Given the description of an element on the screen output the (x, y) to click on. 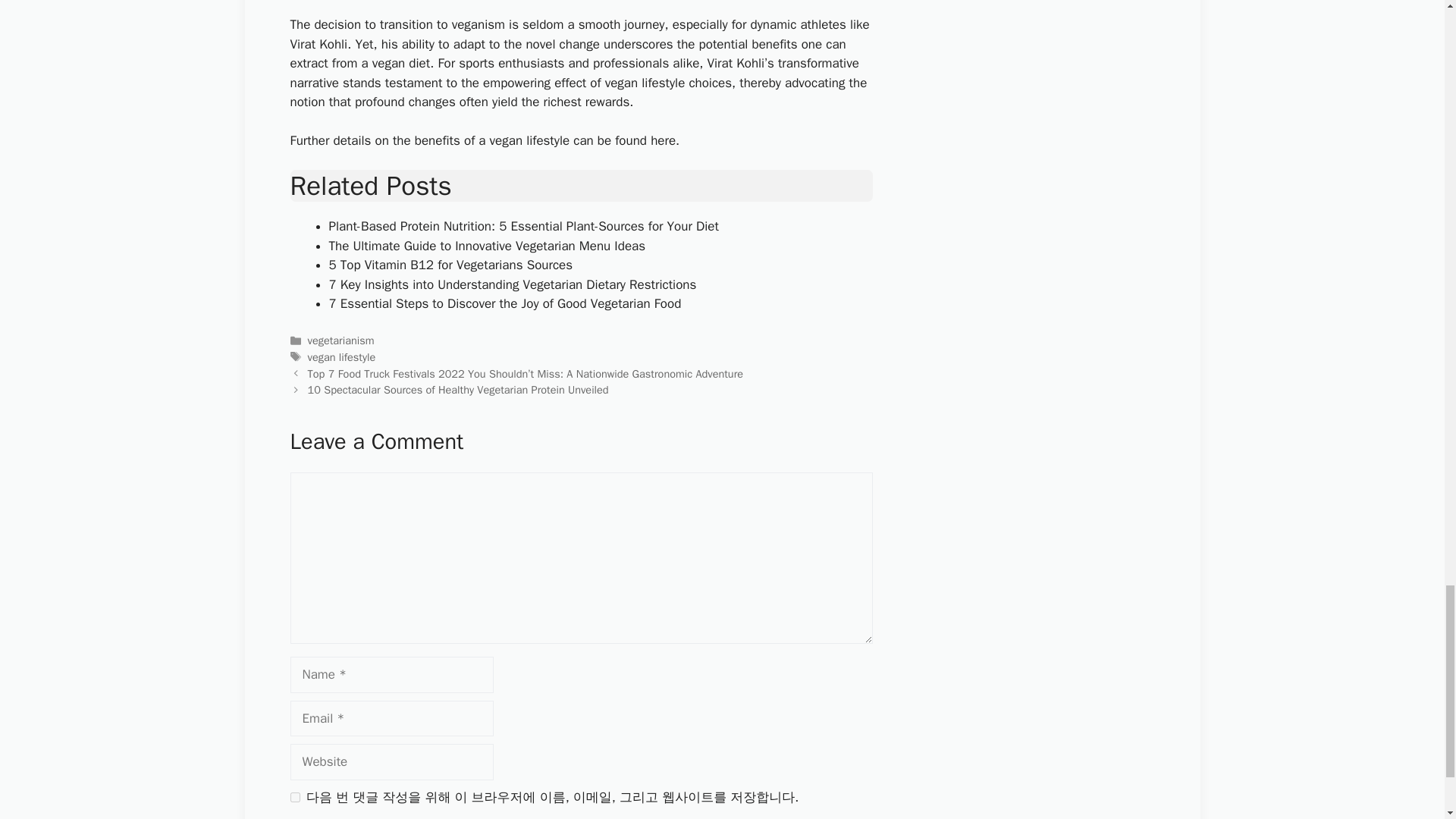
The Ultimate Guide to Innovative Vegetarian Menu Ideas (487, 245)
vegan lifestyle (341, 356)
here (662, 140)
vegetarianism (340, 340)
yes (294, 797)
5 Top Vitamin B12 for Vegetarians Sources (451, 264)
